Given the description of an element on the screen output the (x, y) to click on. 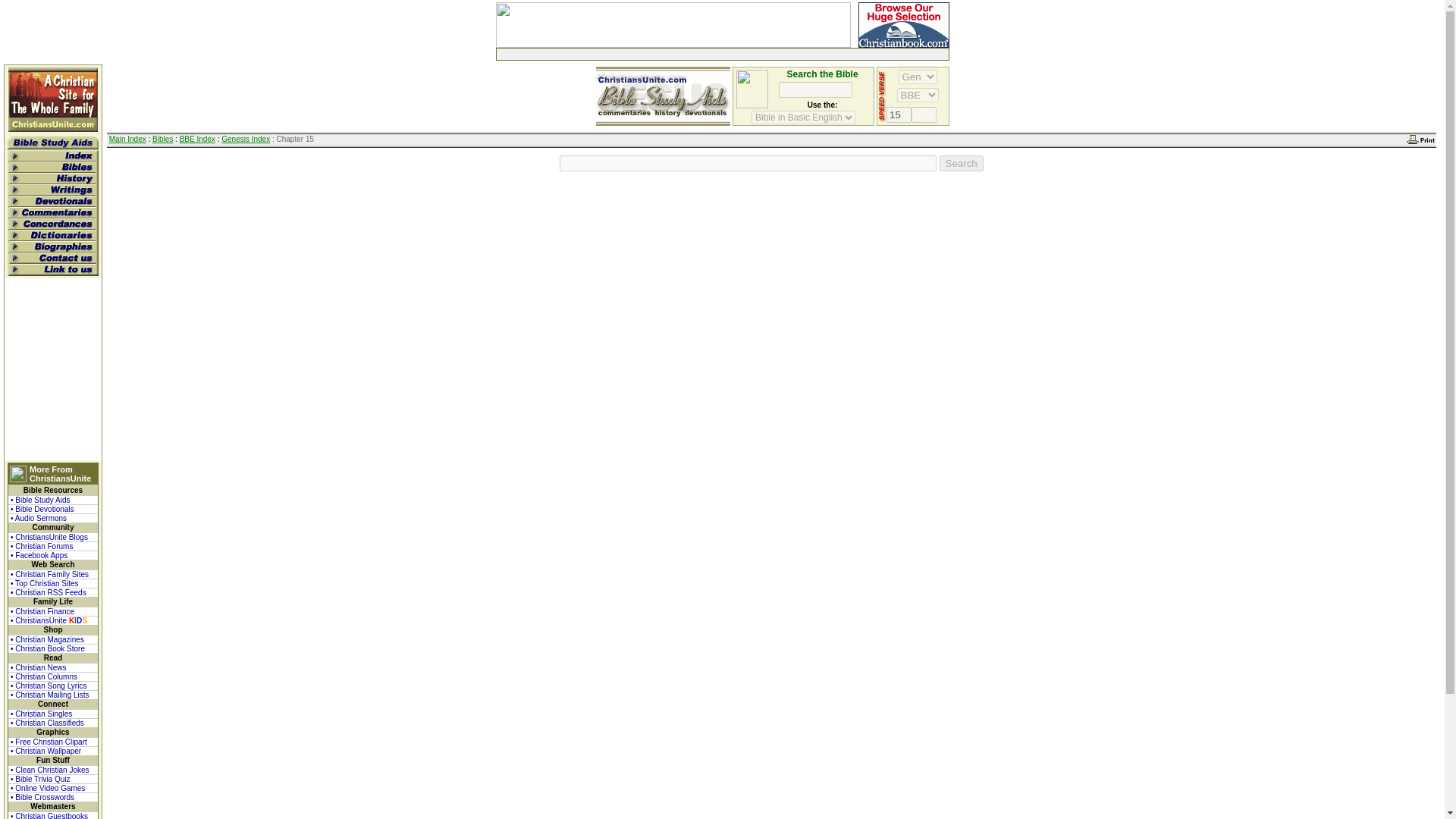
Main Index (128, 139)
Genesis Index (245, 139)
Search (961, 163)
15 (898, 114)
Bibles (162, 139)
Search (961, 163)
BBE Index (197, 139)
